Given the description of an element on the screen output the (x, y) to click on. 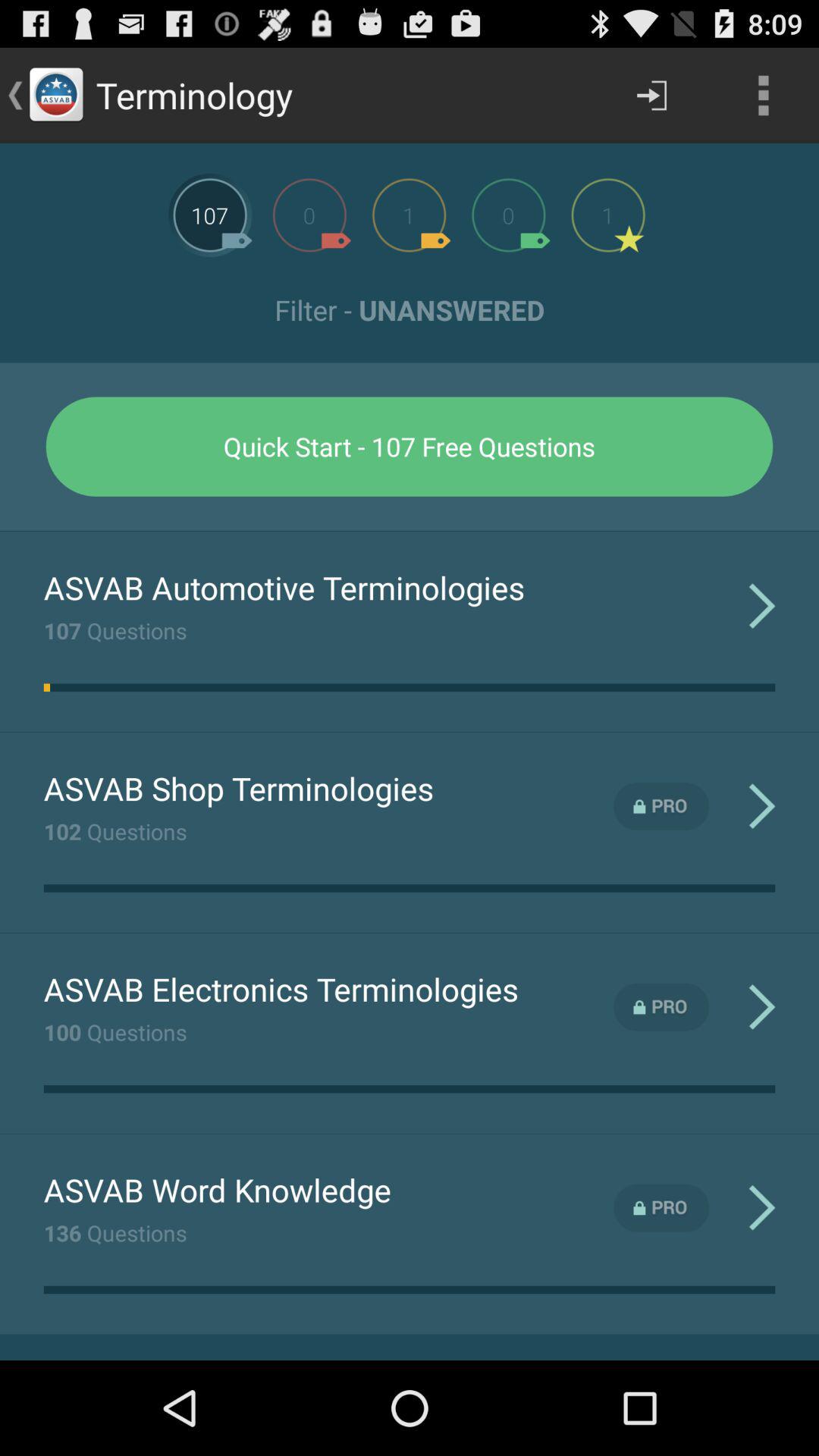
open the item next to the terminology app (651, 95)
